Given the description of an element on the screen output the (x, y) to click on. 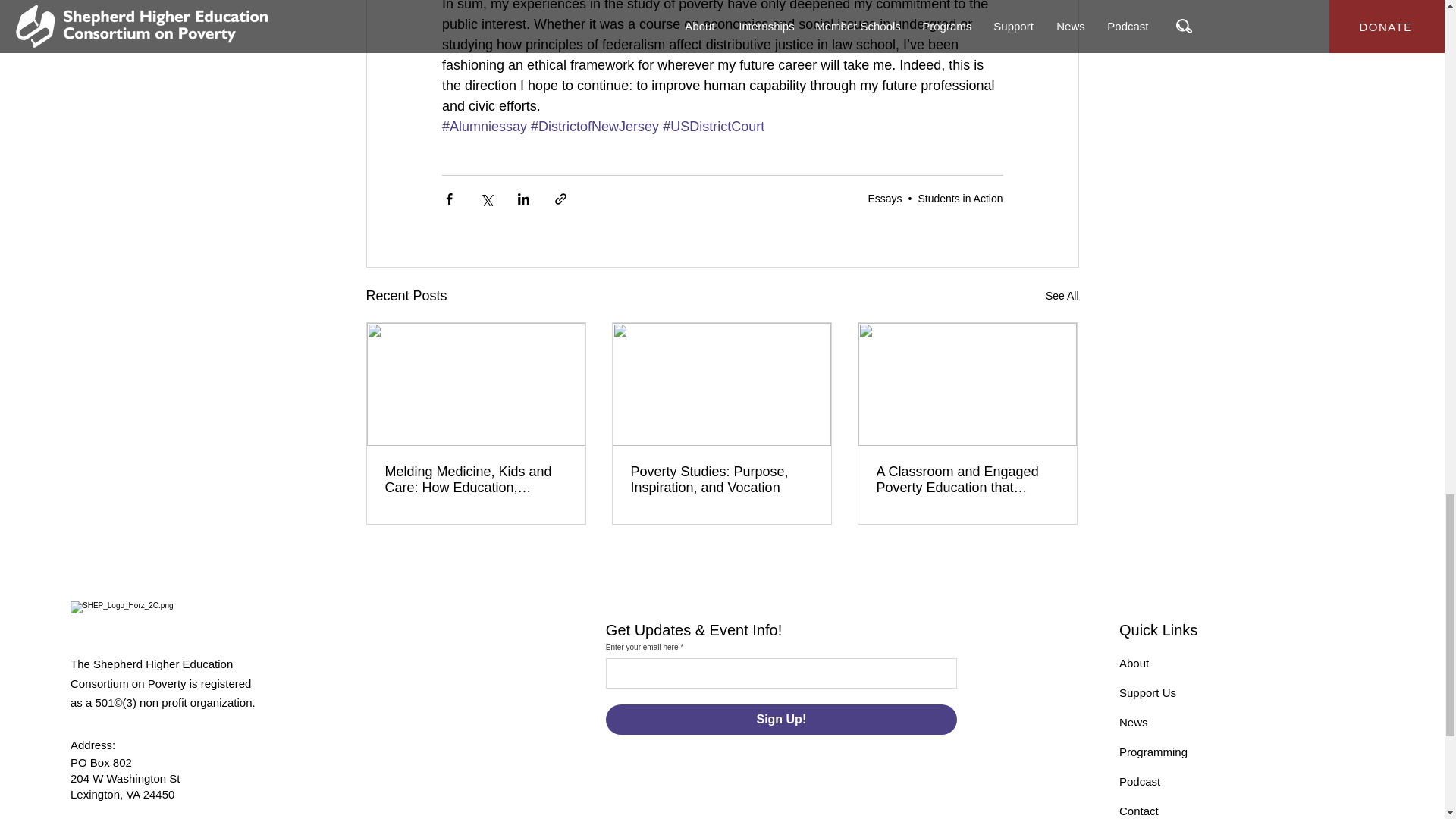
Essays (884, 198)
News (1133, 721)
Poverty Studies: Purpose, Inspiration, and Vocation (721, 480)
A Classroom and Engaged Poverty Education that Continues (967, 480)
Students in Action (960, 198)
About (1133, 662)
See All (1061, 296)
Support Us (1147, 692)
Sign Up! (780, 719)
